Given the description of an element on the screen output the (x, y) to click on. 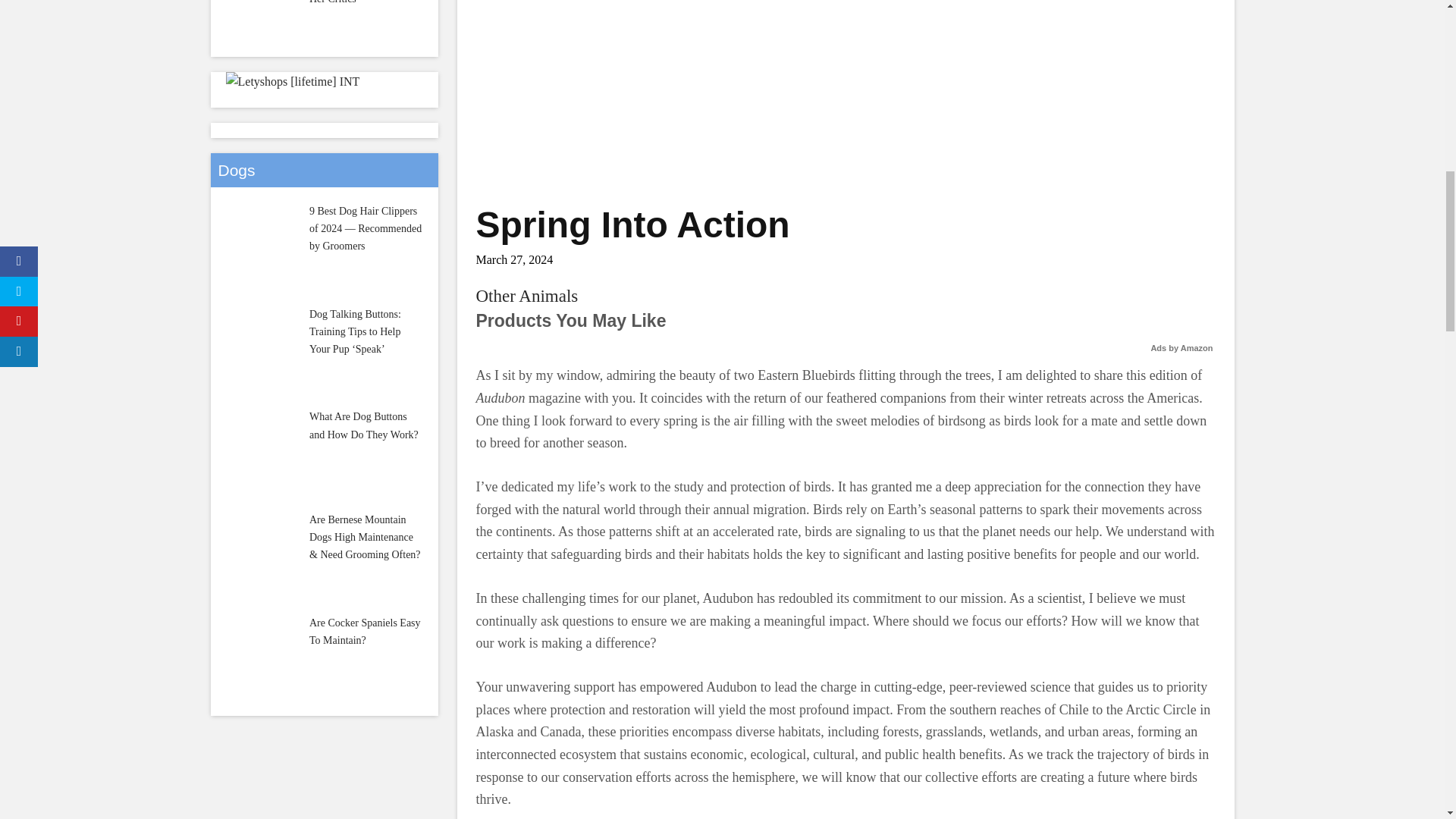
Other Animals (527, 295)
